Given the description of an element on the screen output the (x, y) to click on. 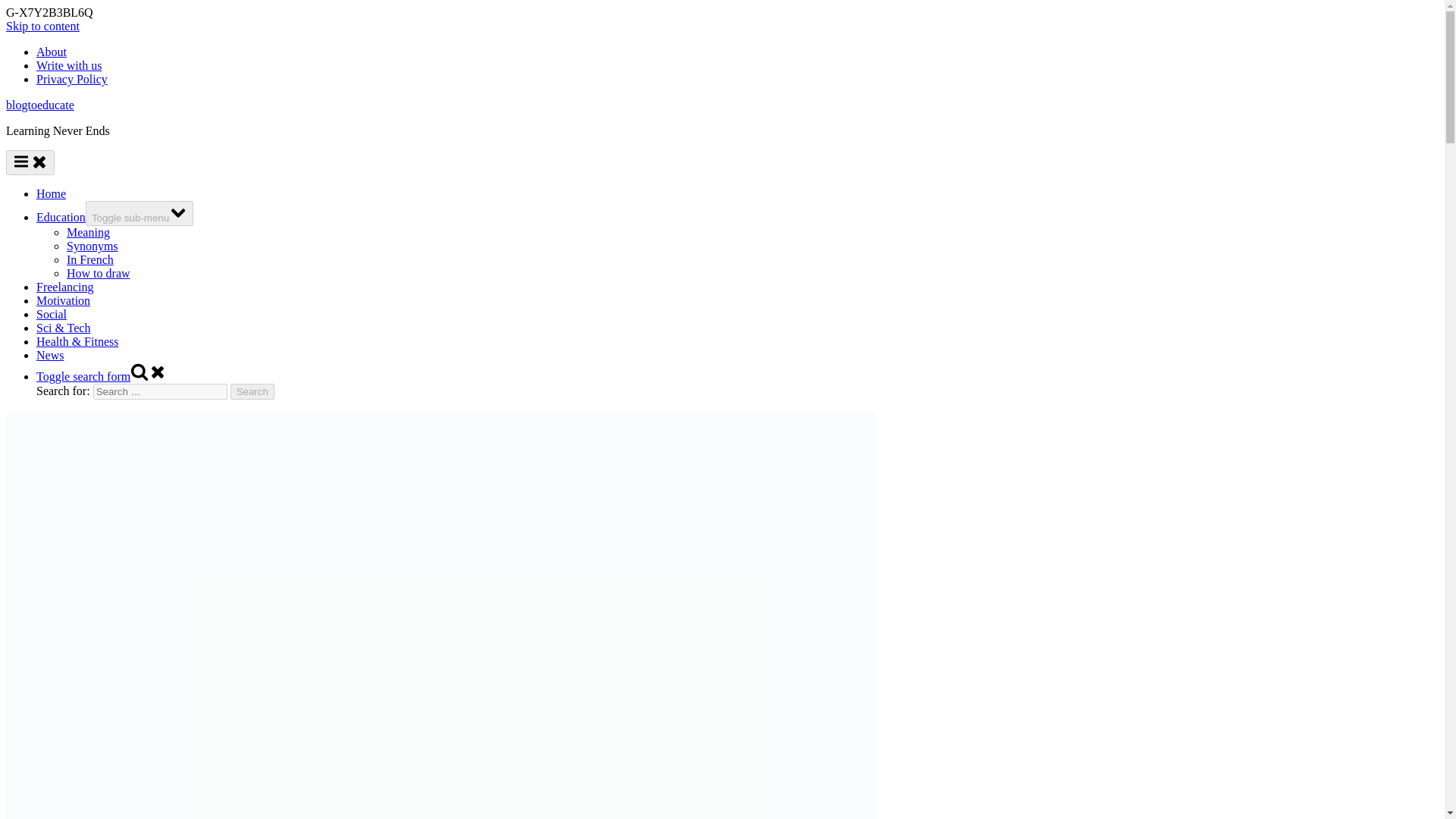
Freelancing (65, 286)
Write with us (68, 65)
Education (60, 216)
Synonyms (91, 245)
Skip to content (42, 25)
News (50, 354)
Motivation (63, 300)
About (51, 51)
Search (252, 391)
Toggle sub-menu (139, 213)
